Given the description of an element on the screen output the (x, y) to click on. 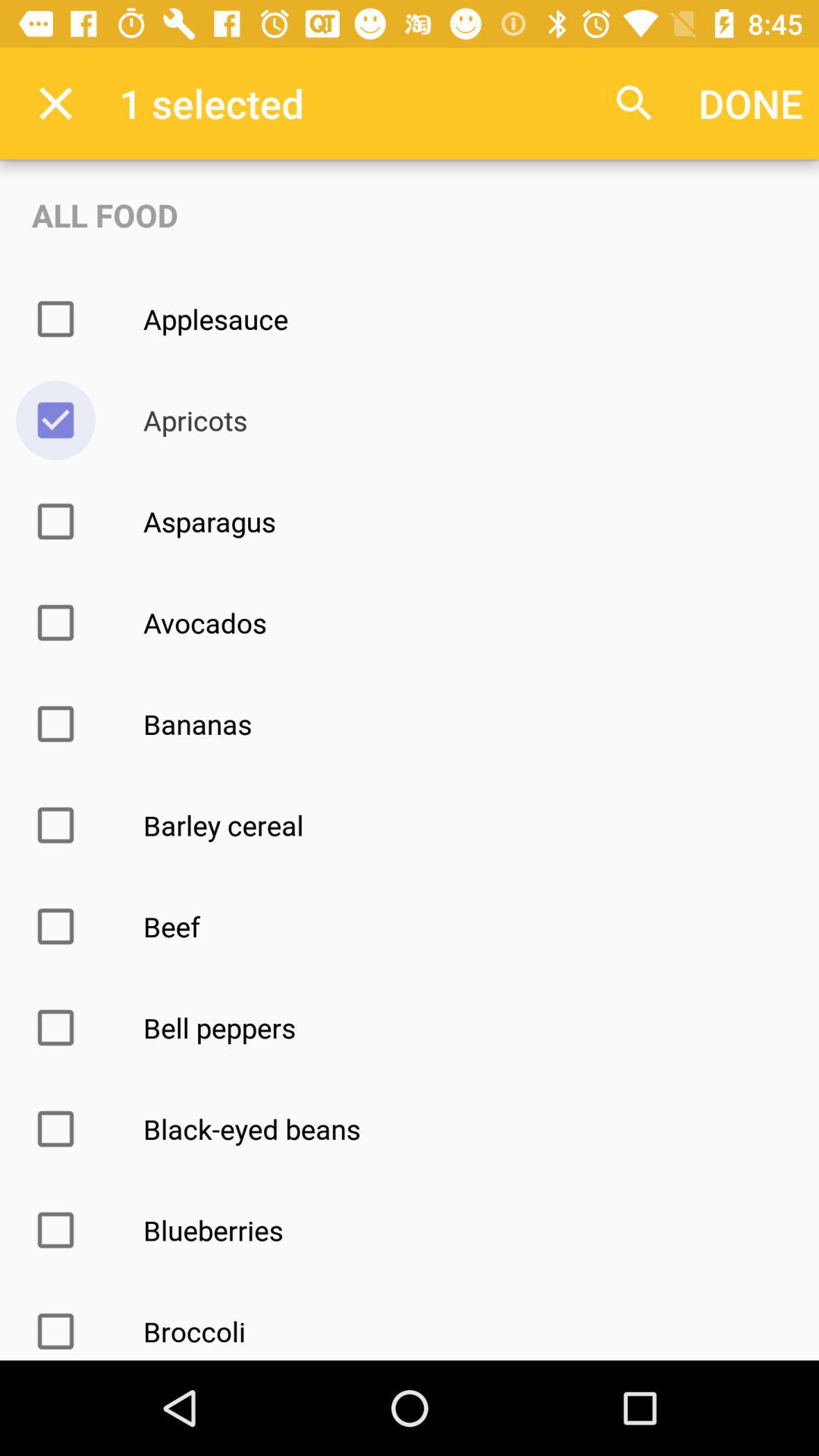
select the app next to 1 selected app (634, 103)
